Given the description of an element on the screen output the (x, y) to click on. 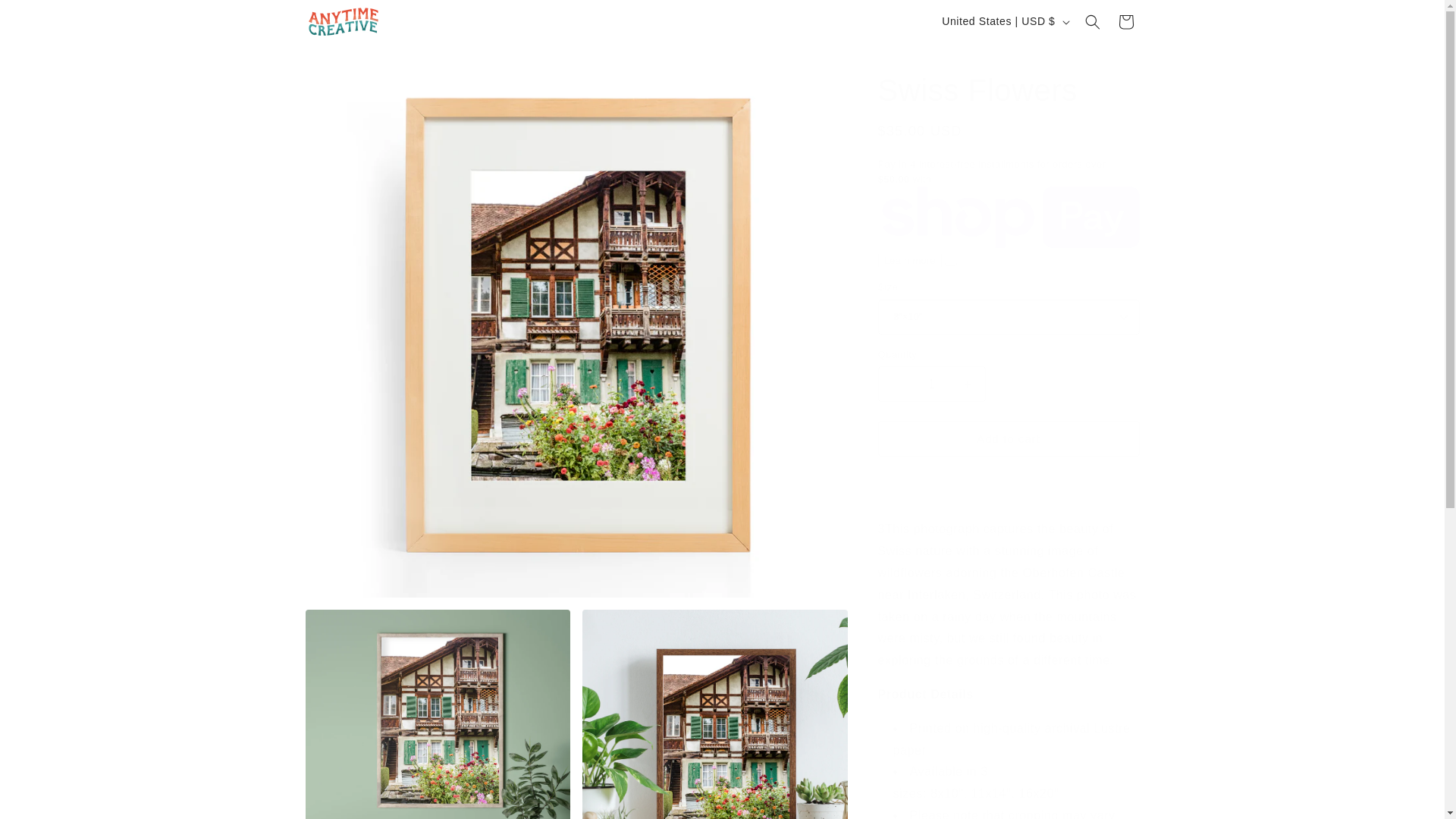
Decrease quantity for Swiss Flowers (894, 384)
Cart (1124, 20)
Skip to product information (350, 72)
Skip to content (45, 17)
Add to cart (1008, 438)
Open media 3 in modal (714, 714)
Open media 2 in modal (437, 714)
Increase quantity for Swiss Flowers (967, 384)
1 (931, 384)
